Given the description of an element on the screen output the (x, y) to click on. 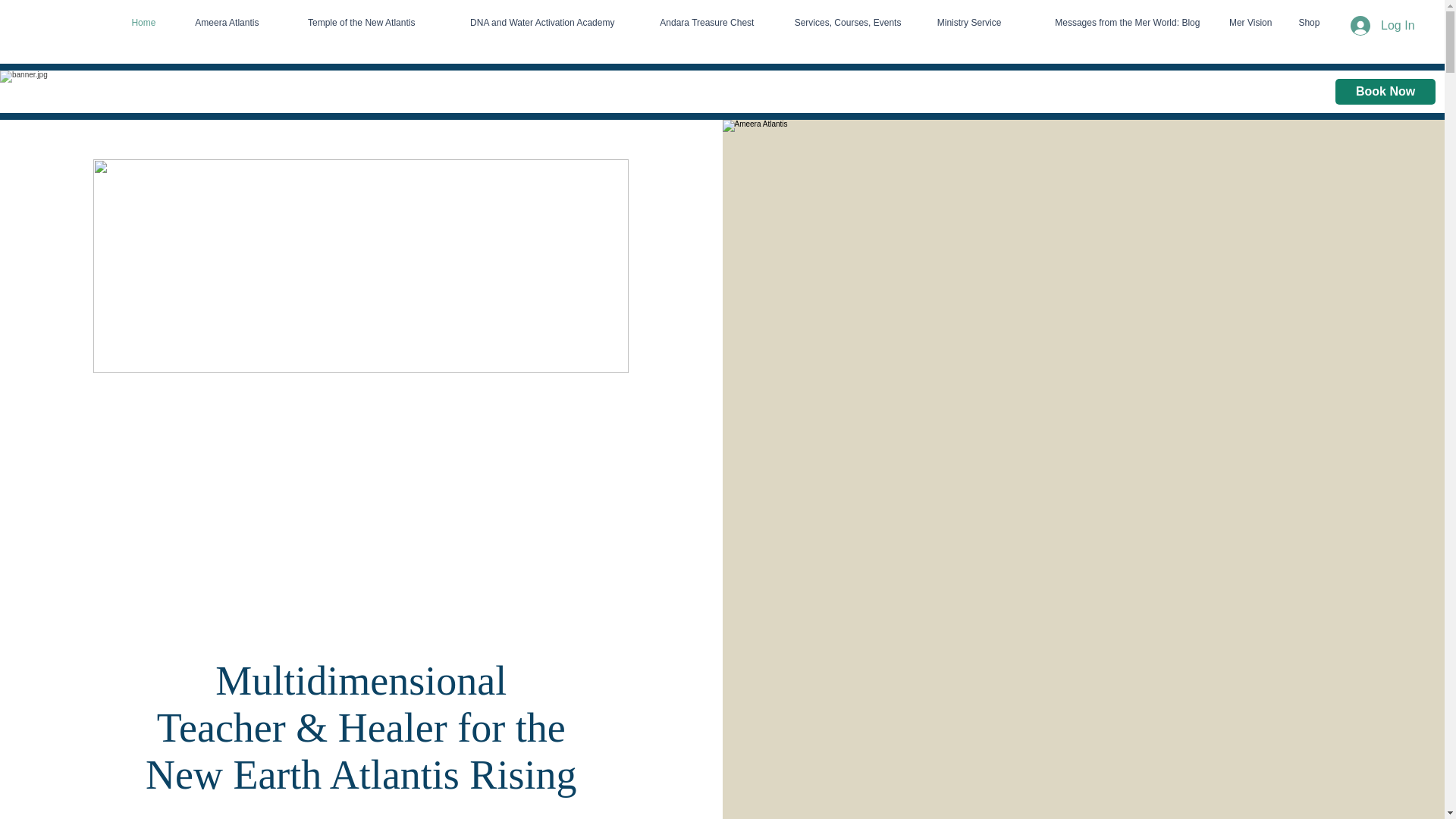
Andara Treasure Chest (695, 22)
Home (141, 22)
DNA and Water Activation Academy (526, 22)
Services, Courses, Events (838, 22)
Shop (1306, 22)
Log In (1382, 25)
Ameera Atlantis (218, 22)
Mer Vision (1246, 22)
Temple of the New Atlantis (347, 22)
Messages from the Mer World: Blog (1111, 22)
